Given the description of an element on the screen output the (x, y) to click on. 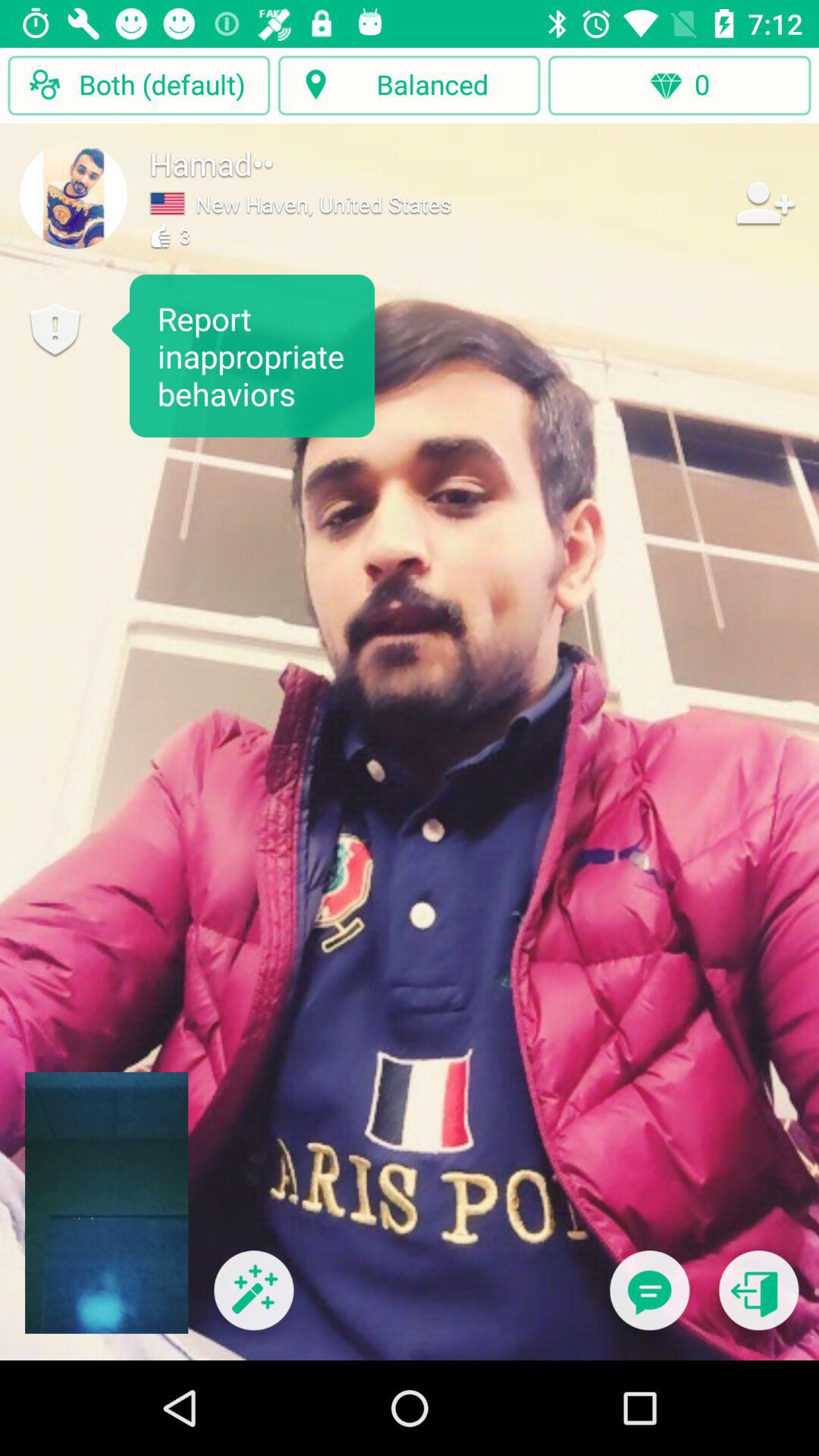
add user (763, 202)
